Given the description of an element on the screen output the (x, y) to click on. 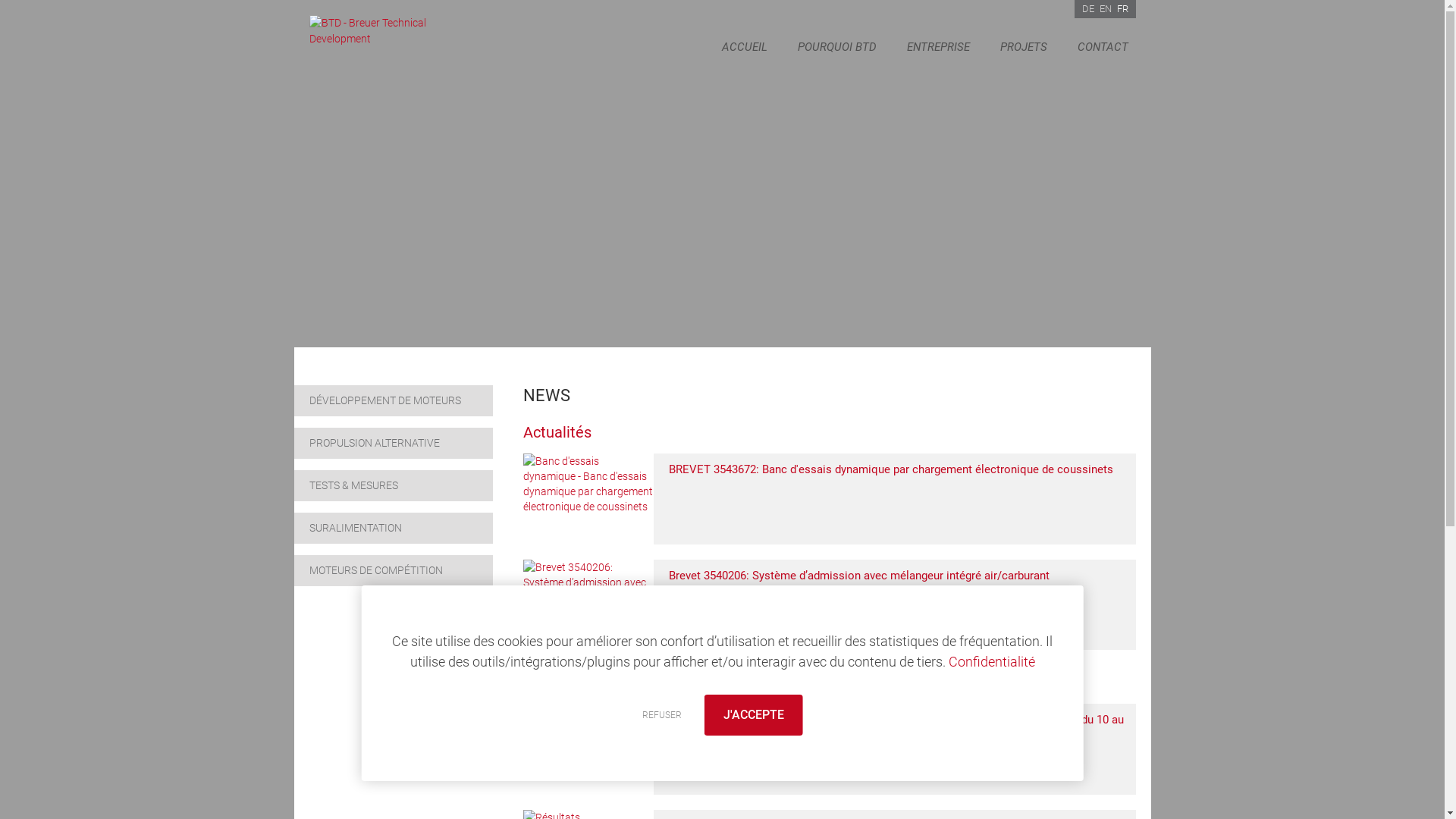
PROJETS Element type: text (1022, 46)
SURALIMENTATION Element type: text (393, 527)
J'ACCEPTE Element type: text (752, 714)
REFUSER Element type: text (660, 715)
ENTREPRISE Element type: text (938, 46)
ACCUEIL Element type: text (744, 46)
EN Element type: text (1105, 8)
POURQUOI BTD Element type: text (837, 46)
TESTS & MESURES Element type: text (393, 485)
PROPULSION ALTERNATIVE Element type: text (393, 442)
FR Element type: text (1121, 8)
CONTACT Element type: text (1102, 46)
DE Element type: text (1087, 8)
